Given the description of an element on the screen output the (x, y) to click on. 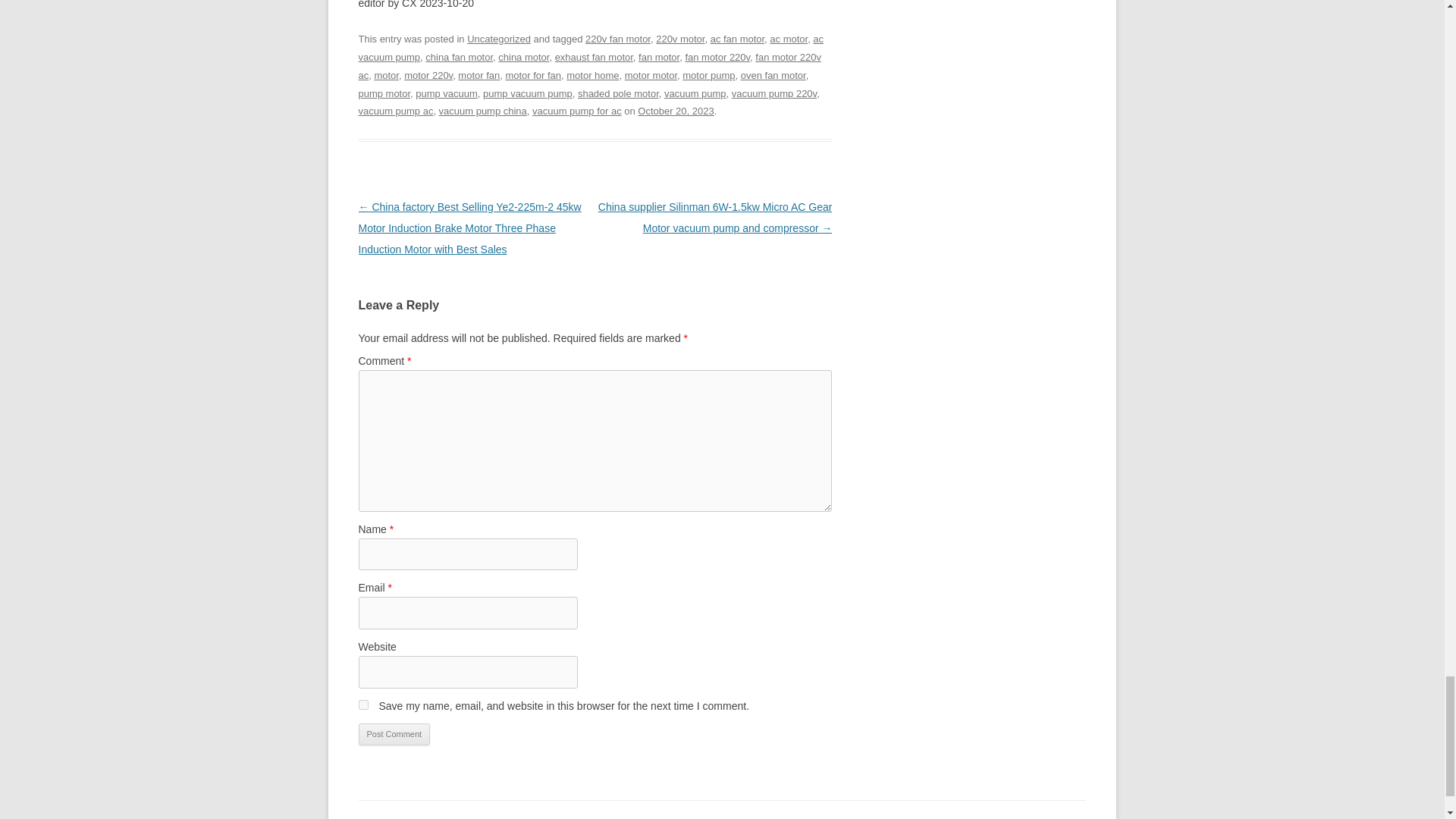
motor motor (650, 75)
ac motor (789, 39)
china fan motor (459, 57)
pump vacuum (445, 93)
vacuum pump (694, 93)
9:19 am (675, 111)
yes (363, 705)
vacuum pump china (483, 111)
fan motor 220v ac (589, 66)
motor home (592, 75)
